Given the description of an element on the screen output the (x, y) to click on. 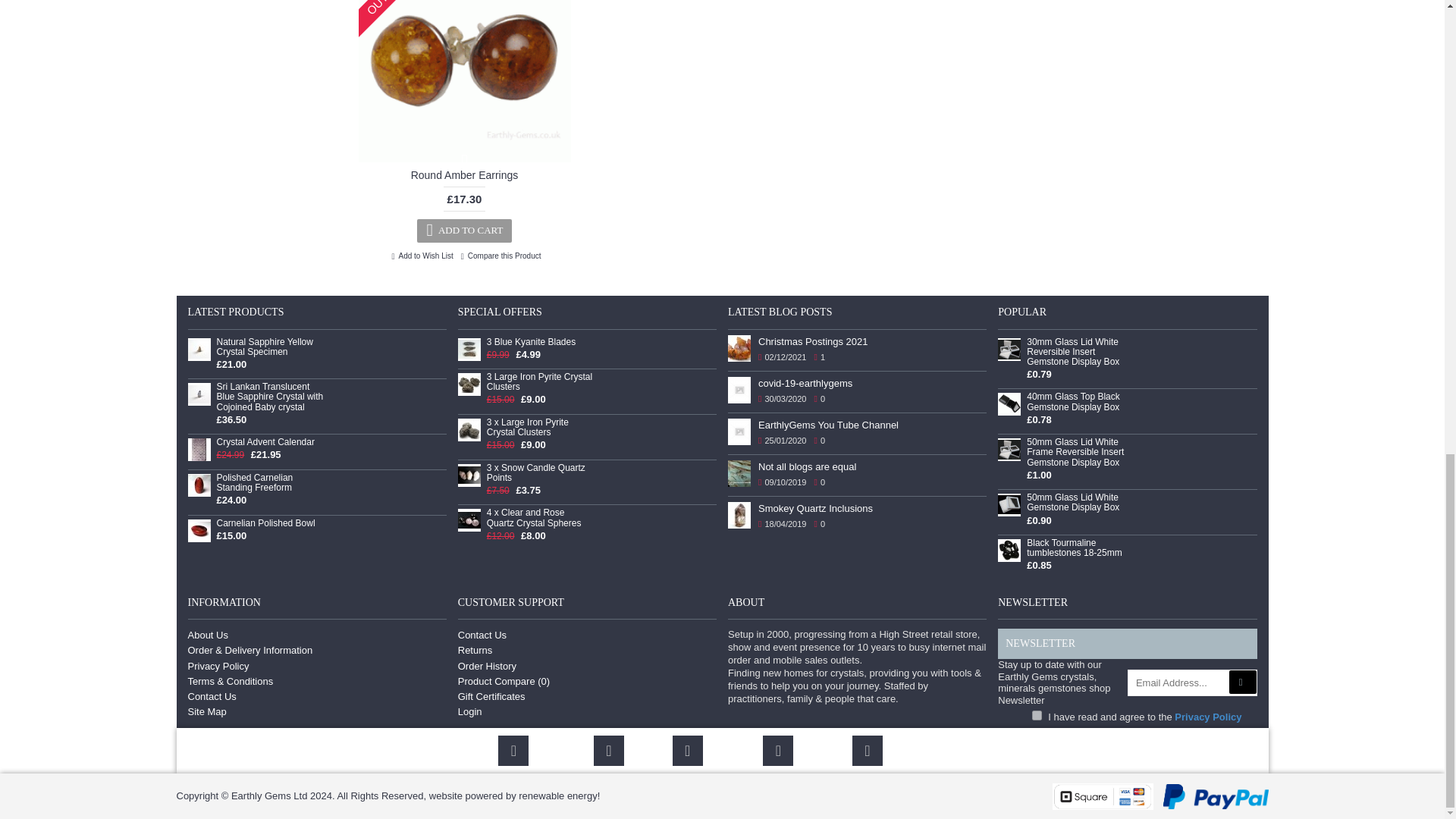
Natural Sapphire Yellow Crystal Specimen (199, 349)
Round Amber Earrings (464, 81)
1 (1037, 715)
